Given the description of an element on the screen output the (x, y) to click on. 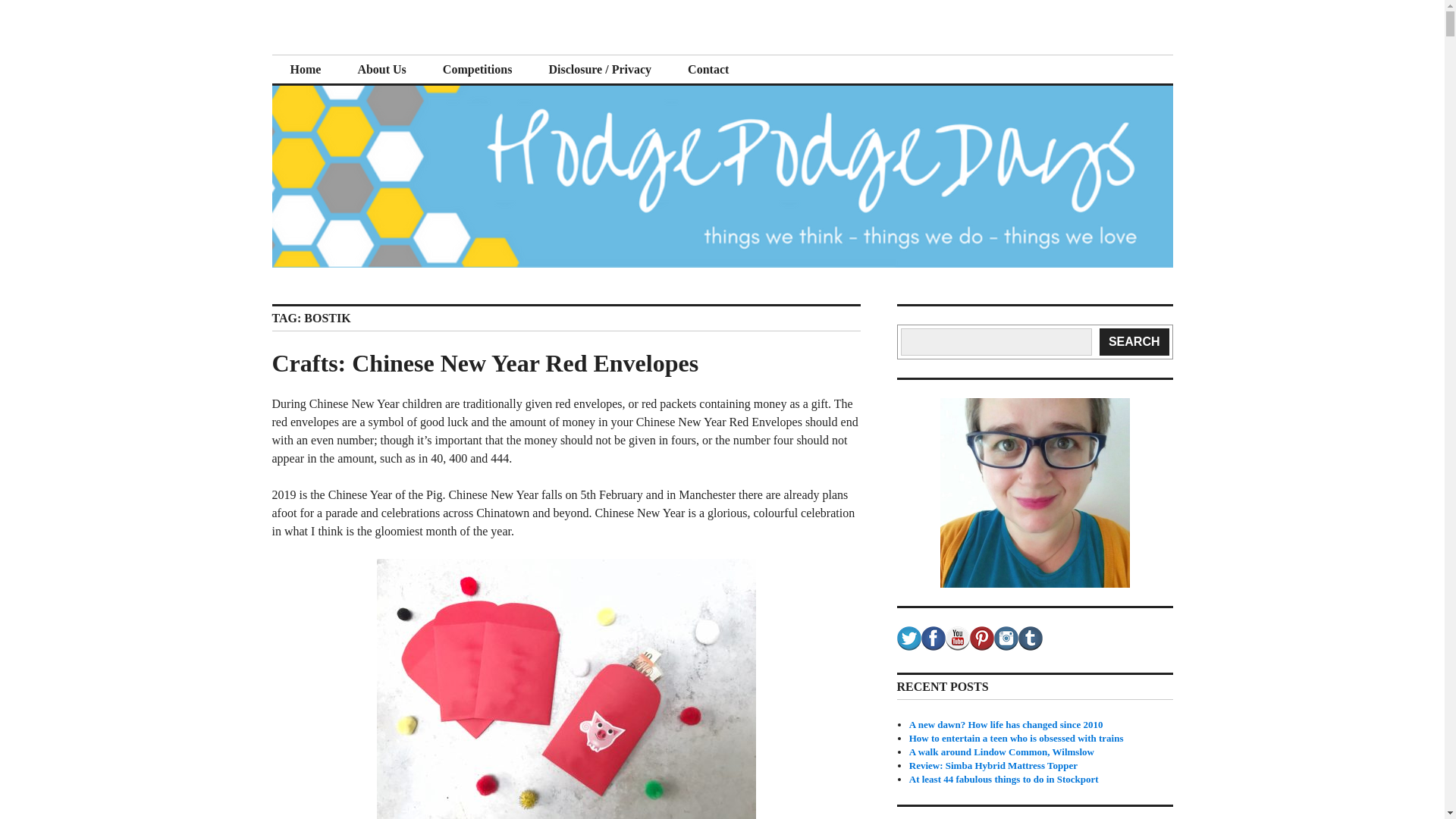
Contact (707, 69)
Competitions (478, 69)
Crafts: Chinese New Year Red Envelopes (484, 362)
About Us (381, 69)
Home (304, 69)
HodgePodgeDays (384, 53)
